Given the description of an element on the screen output the (x, y) to click on. 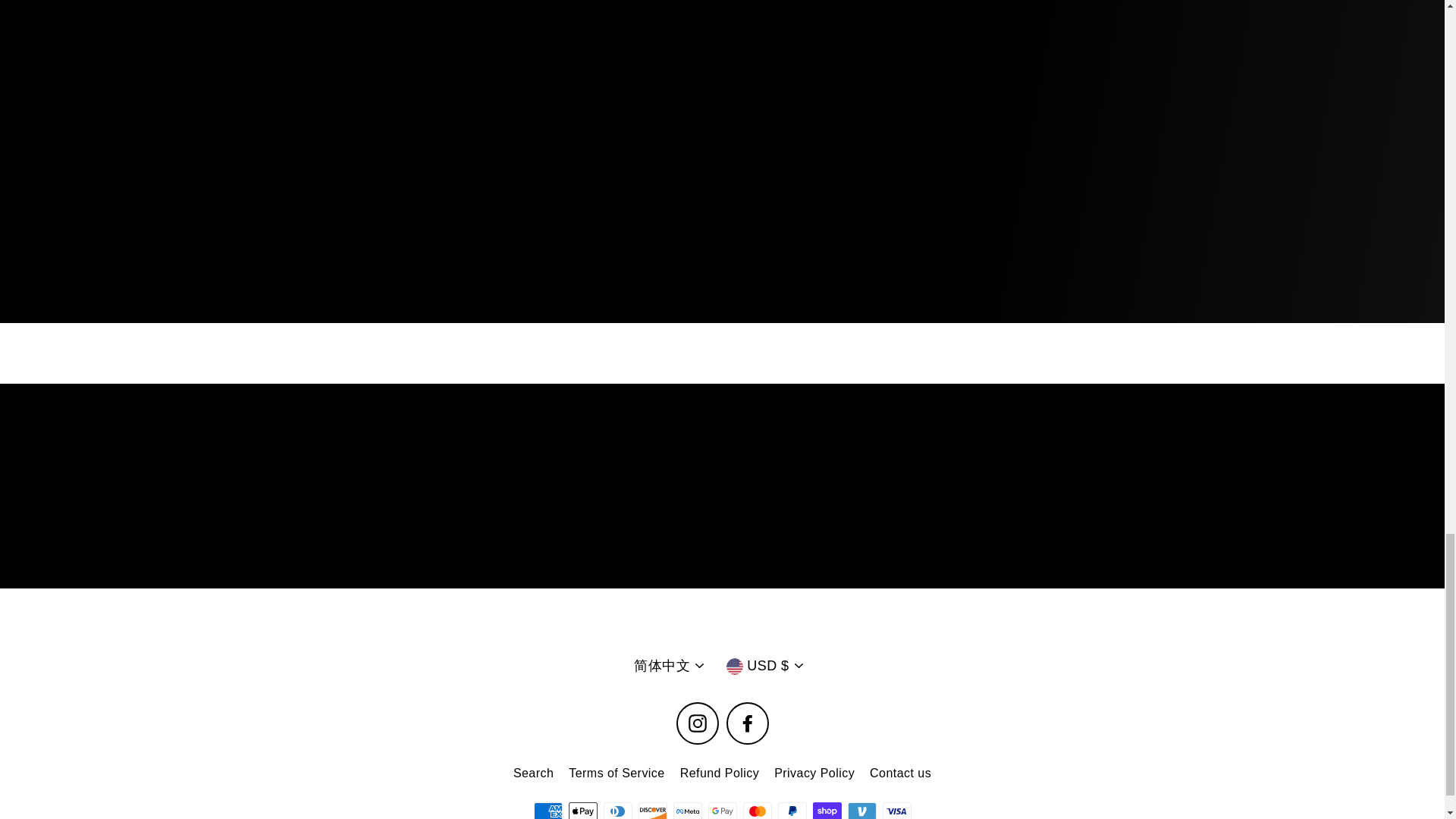
Voda on Facebook (747, 722)
Discover (652, 810)
Diners Club (617, 810)
PayPal (791, 810)
American Express (548, 810)
Apple Pay (582, 810)
Google Pay (721, 810)
Mastercard (756, 810)
Meta Pay (686, 810)
Venmo (861, 810)
Voda on Instagram (698, 722)
Visa (896, 810)
Shop Pay (826, 810)
